Given the description of an element on the screen output the (x, y) to click on. 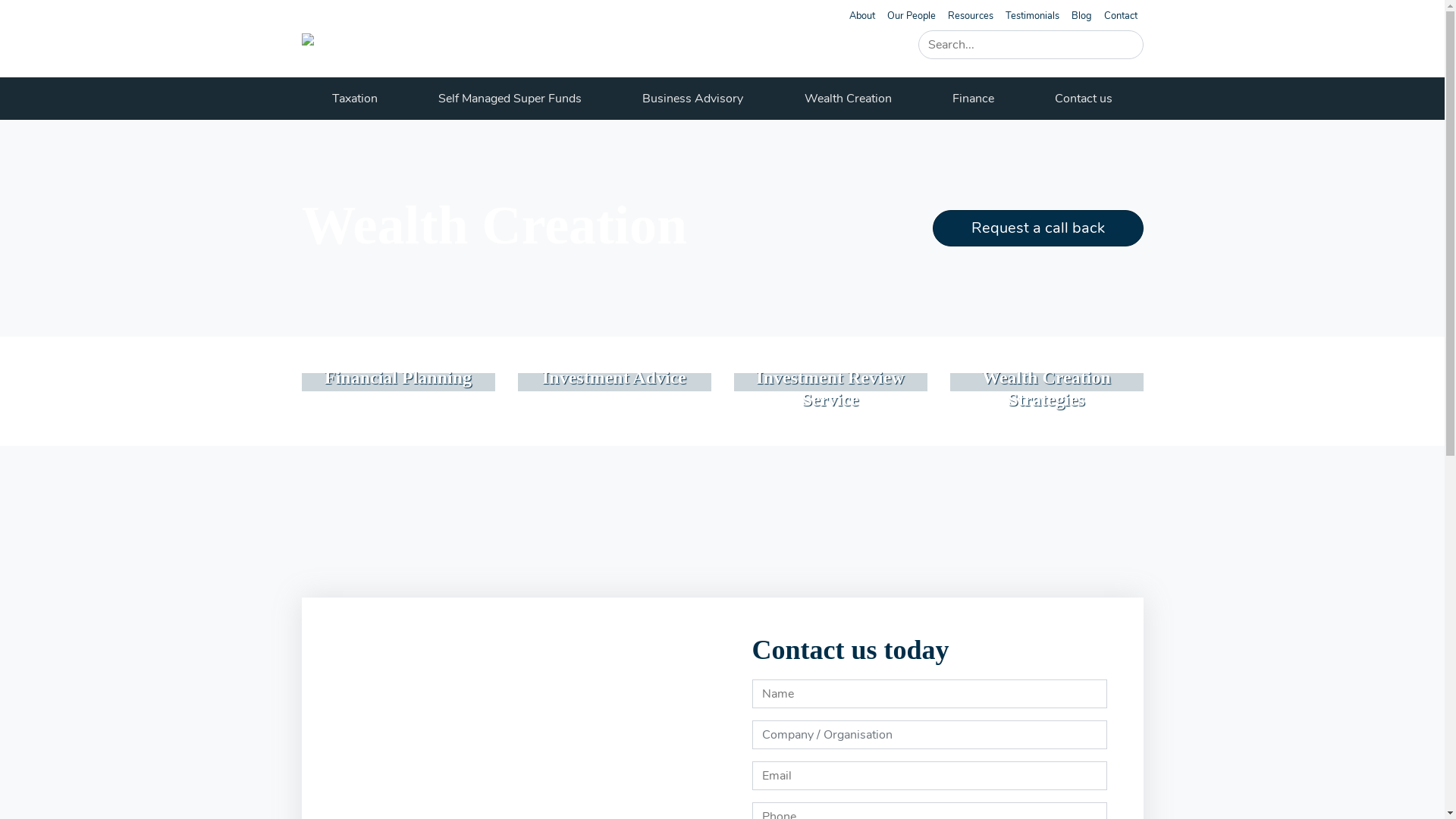
Resources Element type: text (970, 15)
Financial Planning Element type: hover (301, 382)
About Element type: text (862, 15)
Financial Planning Element type: text (397, 377)
Investment Advice Element type: hover (517, 382)
Investment Review Service Element type: hover (734, 382)
Contact us Element type: text (1083, 98)
Blog Element type: text (1080, 15)
Taxation Element type: text (354, 98)
Investment Advice Element type: text (614, 377)
Contact Element type: text (1120, 15)
Request a call back Element type: text (1037, 228)
Investment Review Service Element type: text (829, 388)
Wealth Creation Strategies Element type: text (1046, 388)
Testimonials Element type: text (1032, 15)
Wealth Creation Element type: text (847, 98)
Self Managed Super Funds Element type: text (509, 98)
Finance Element type: text (973, 98)
Wealth Creation Strategies Element type: hover (949, 382)
Our People Element type: text (911, 15)
Business Advisory Element type: text (692, 98)
